Given the description of an element on the screen output the (x, y) to click on. 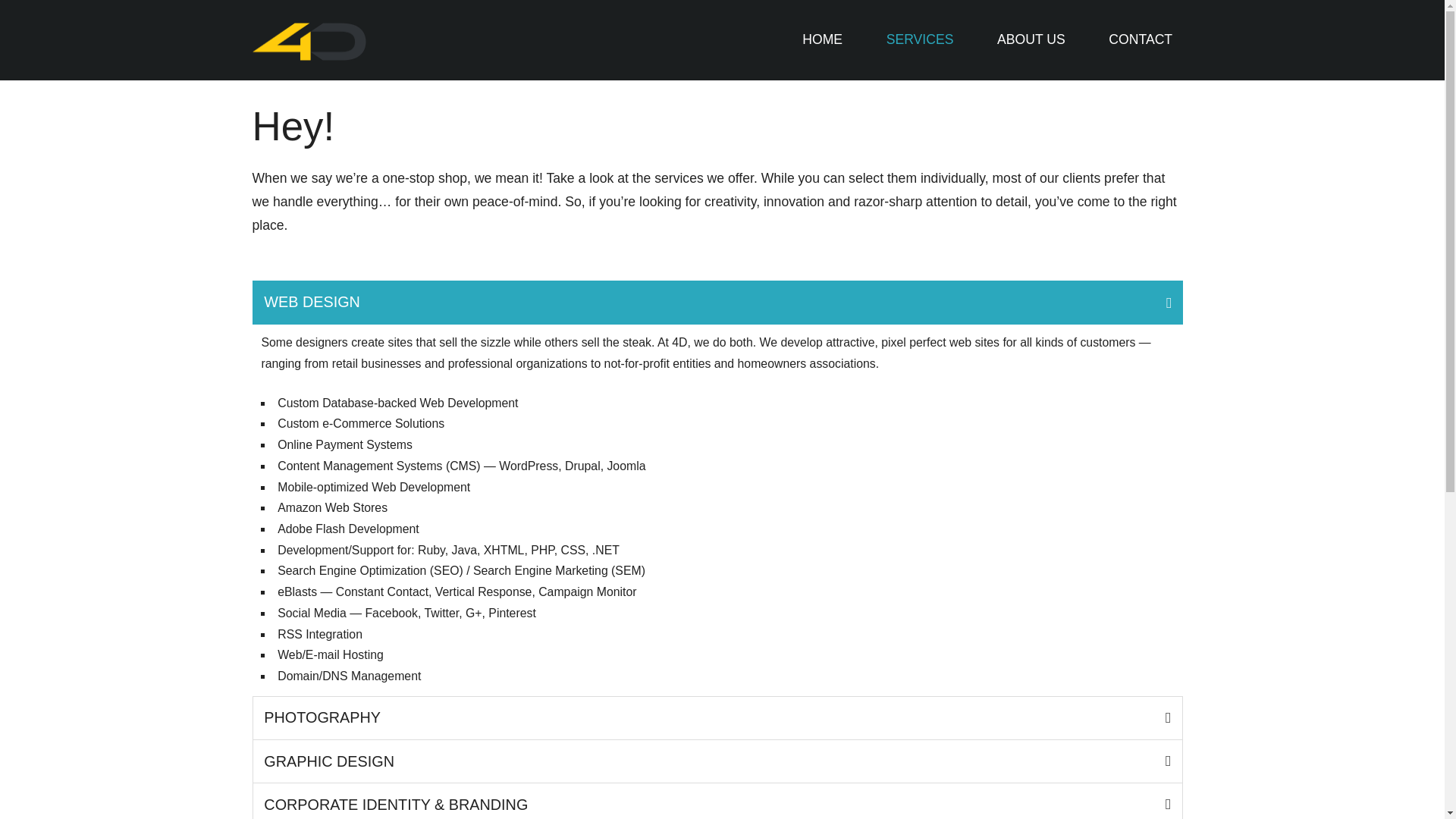
CONTACT (1140, 39)
SERVICES (919, 39)
contact us today (1140, 39)
view our work (823, 39)
about 4d (1030, 39)
HOME (823, 39)
ABOUT US (1030, 39)
